Given the description of an element on the screen output the (x, y) to click on. 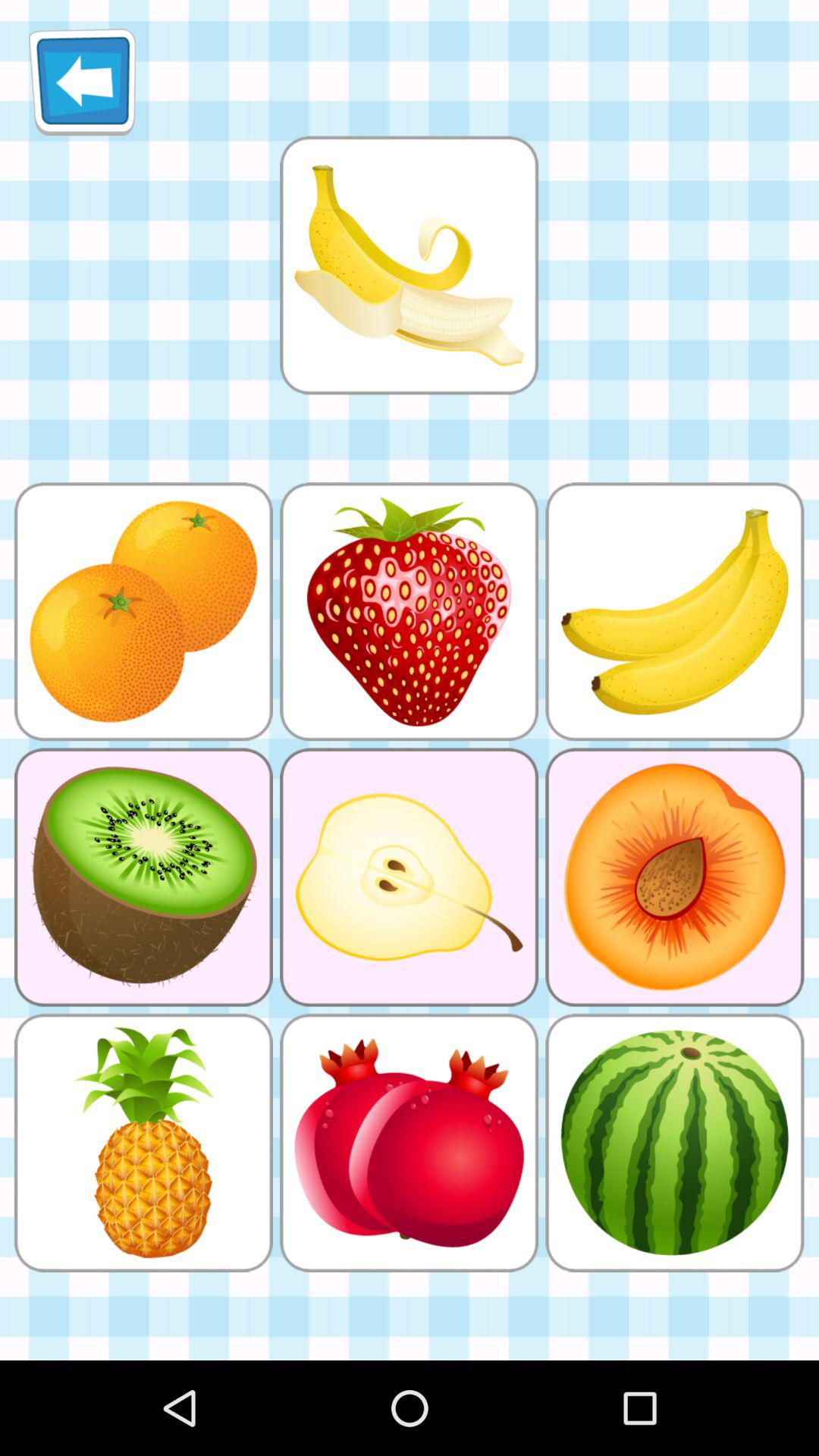
this is banana (409, 265)
